Given the description of an element on the screen output the (x, y) to click on. 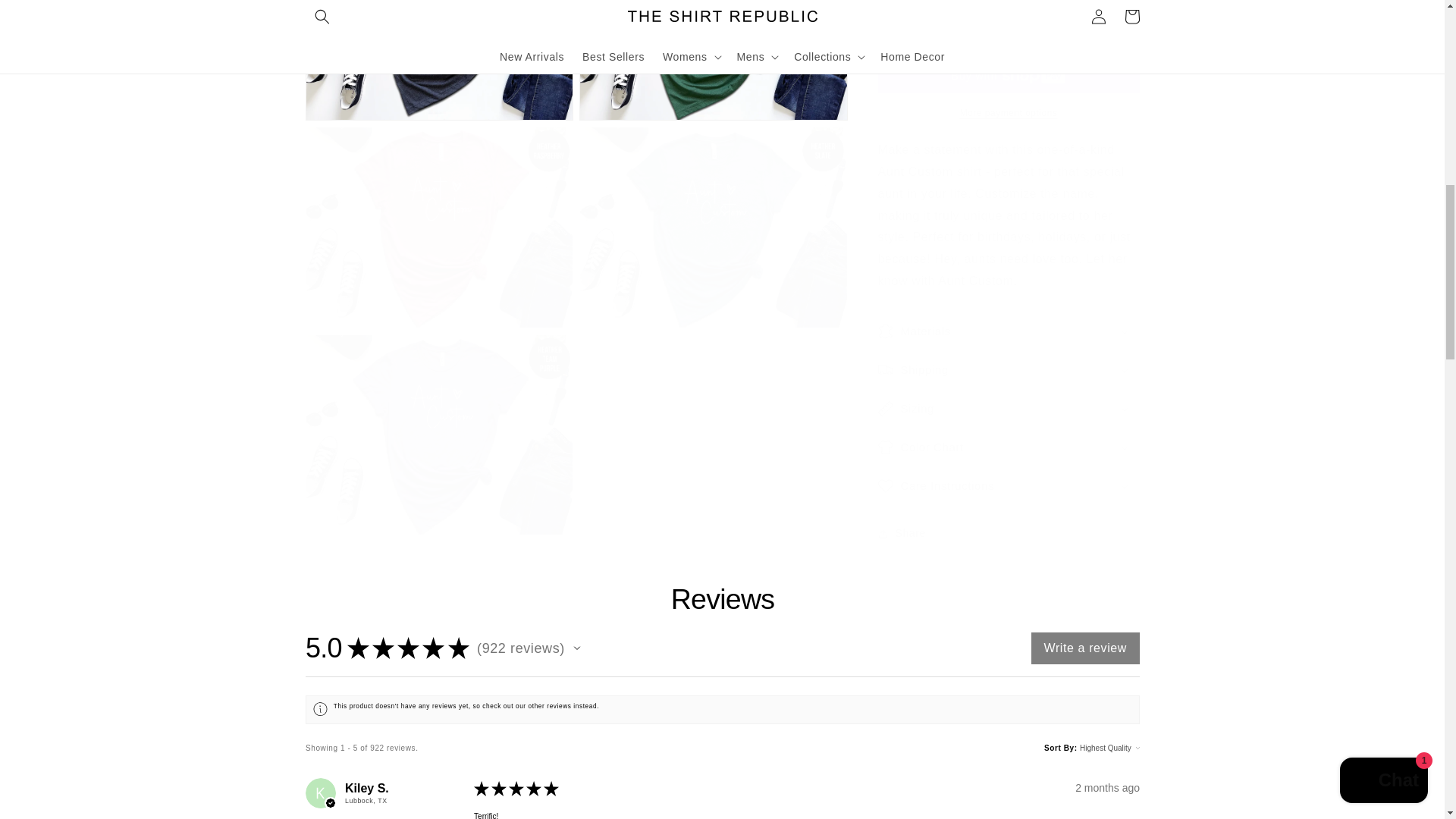
Open media 4 in modal (438, 53)
Open media 5 in modal (713, 53)
Open media 8 in modal (438, 419)
Open media 7 in modal (713, 211)
Open media 6 in modal (438, 211)
